Given the description of an element on the screen output the (x, y) to click on. 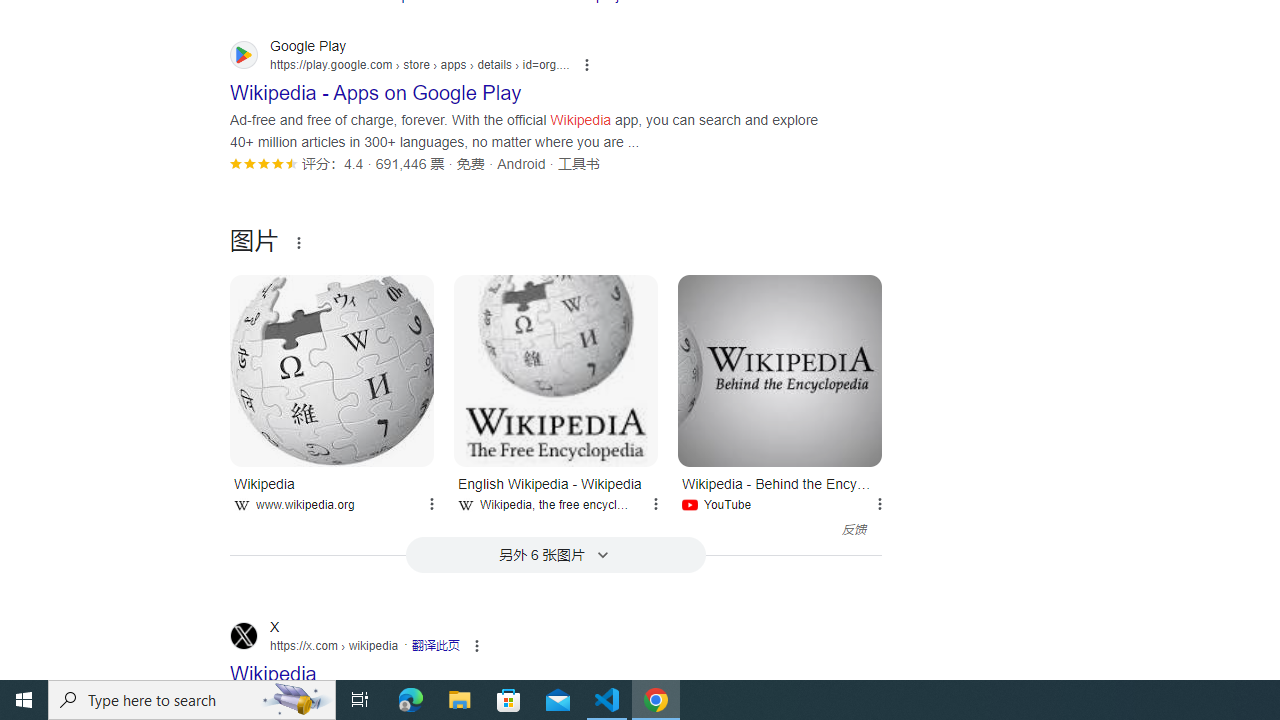
English Wikipedia - Wikipedia (555, 370)
Wikipedia (331, 370)
Wikipedia (331, 370)
Wikipedia www.wikipedia.org (331, 490)
Wikipedia - Behind the Encyclopedia (779, 370)
English Wikipedia - Wikipedia (555, 370)
Wikipedia - Behind the Encyclopedia (779, 370)
